Given the description of an element on the screen output the (x, y) to click on. 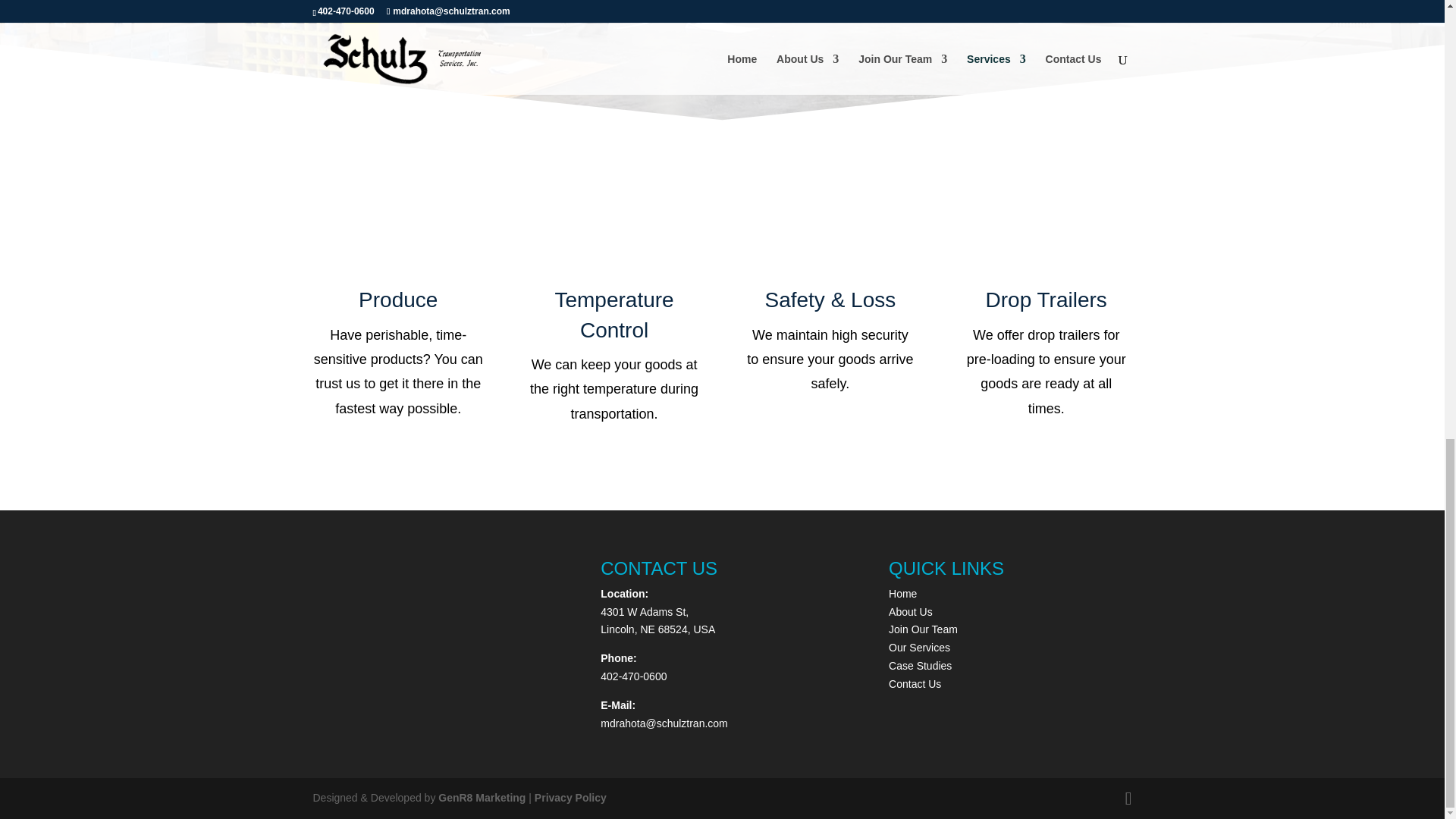
Produce (398, 300)
Temperature Control (613, 314)
